Given the description of an element on the screen output the (x, y) to click on. 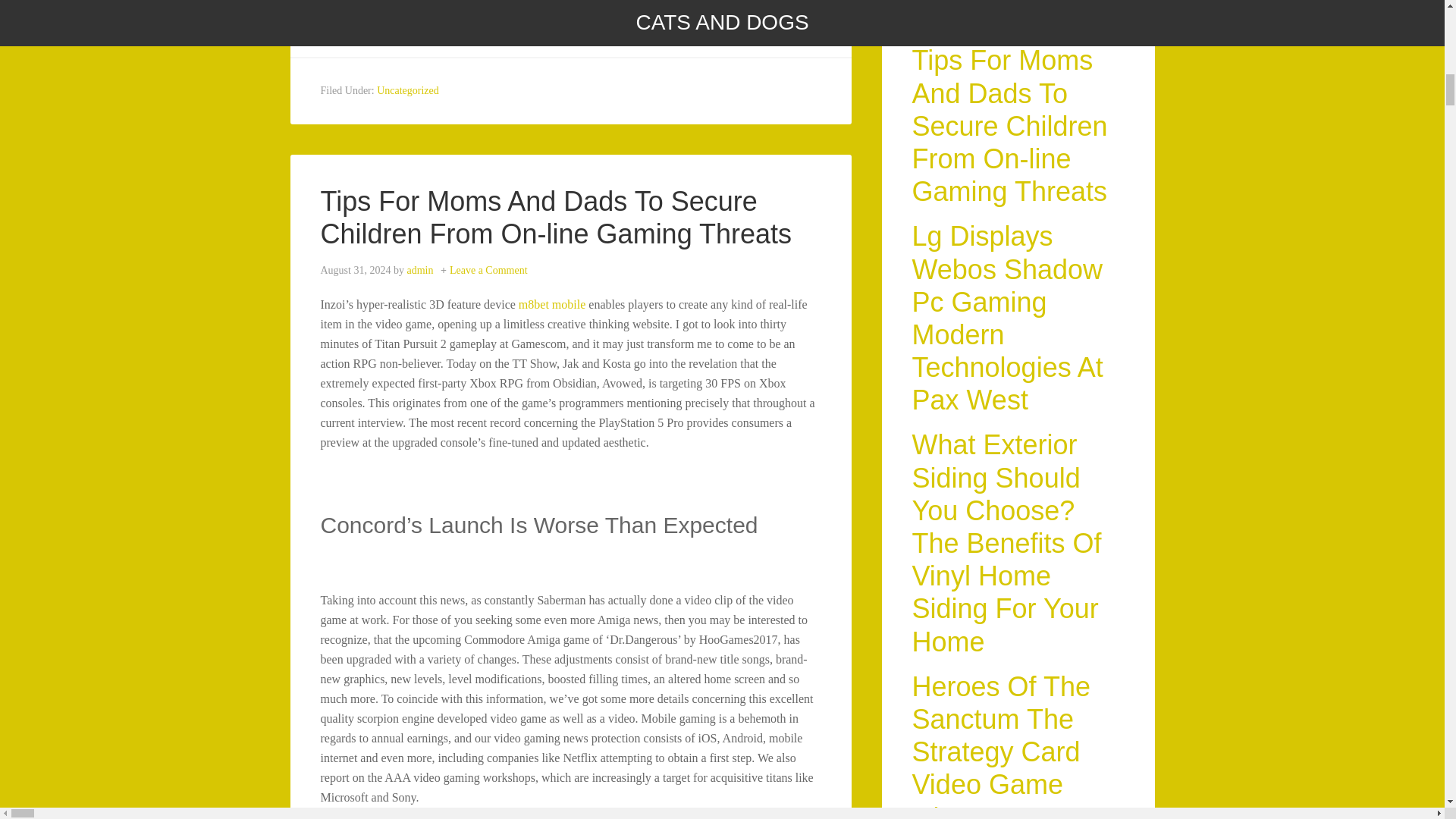
admin (419, 270)
Uncategorized (408, 90)
m8bet mobile (551, 304)
Leave a Comment (488, 270)
